Given the description of an element on the screen output the (x, y) to click on. 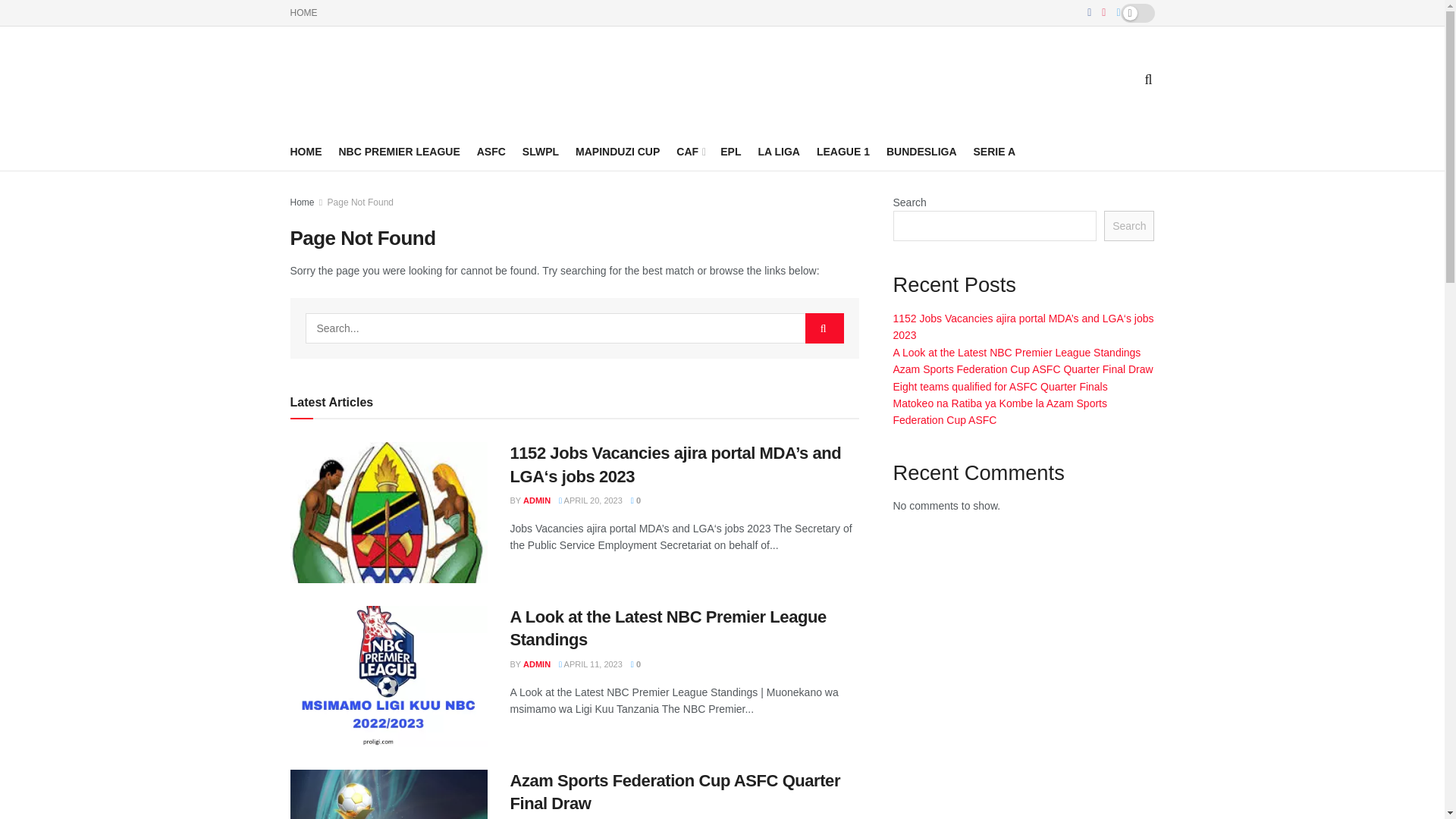
SLWPL (540, 151)
ASFC (491, 151)
Azam Sports Federation Cup ASFC Quarter Final Draw 3 (387, 794)
A Look at the Latest NBC Premier League Standings 2 (387, 676)
NBC PREMIER LEAGUE (398, 151)
MAPINDUZI CUP (617, 151)
LA LIGA (778, 151)
BUNDESLIGA (921, 151)
SERIE A (995, 151)
EPL (730, 151)
